Given the description of an element on the screen output the (x, y) to click on. 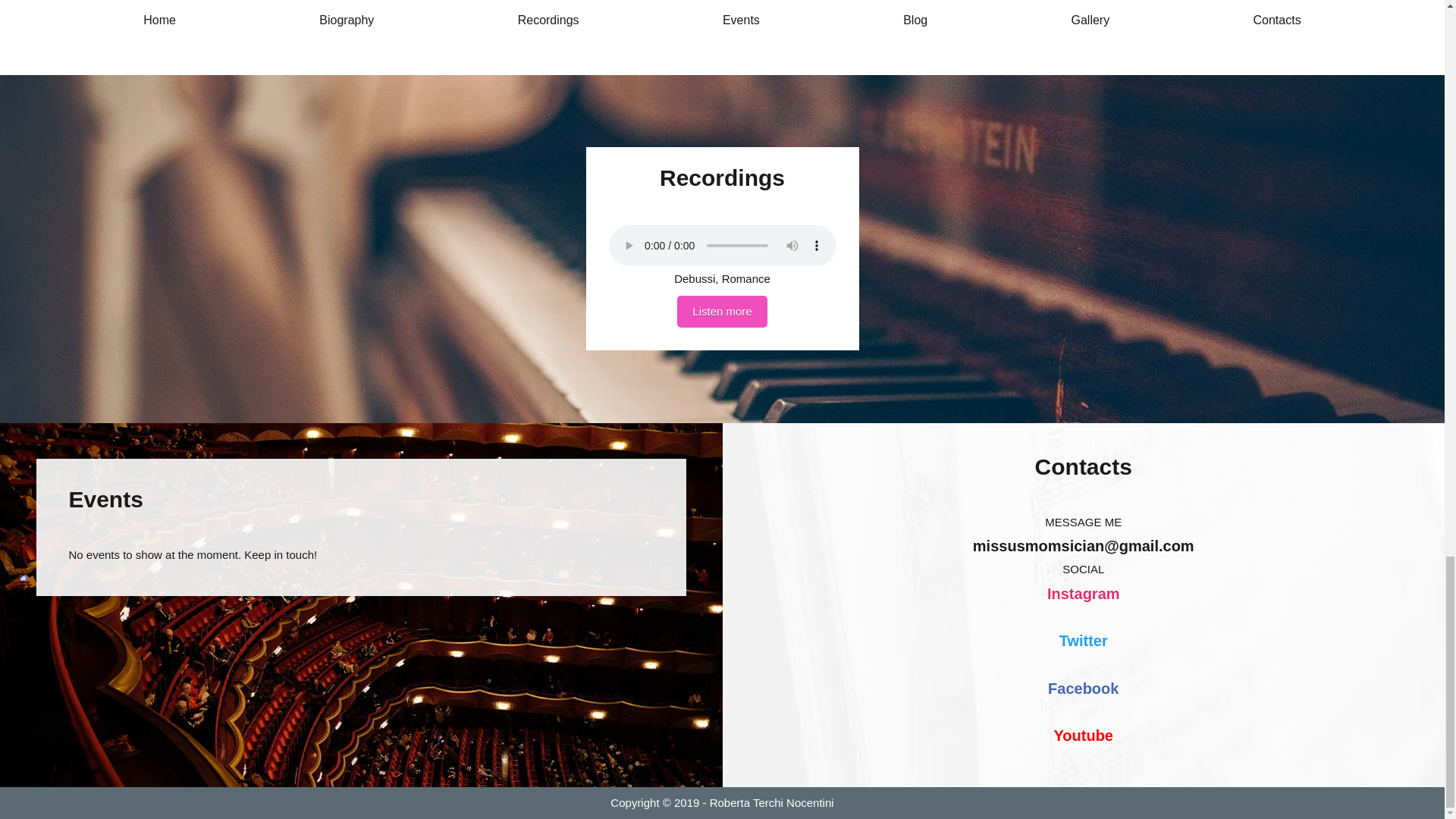
Facebook (1083, 688)
Instagram (1082, 593)
Twitter (1083, 640)
Youtube (1082, 735)
Listen more (722, 311)
